Given the description of an element on the screen output the (x, y) to click on. 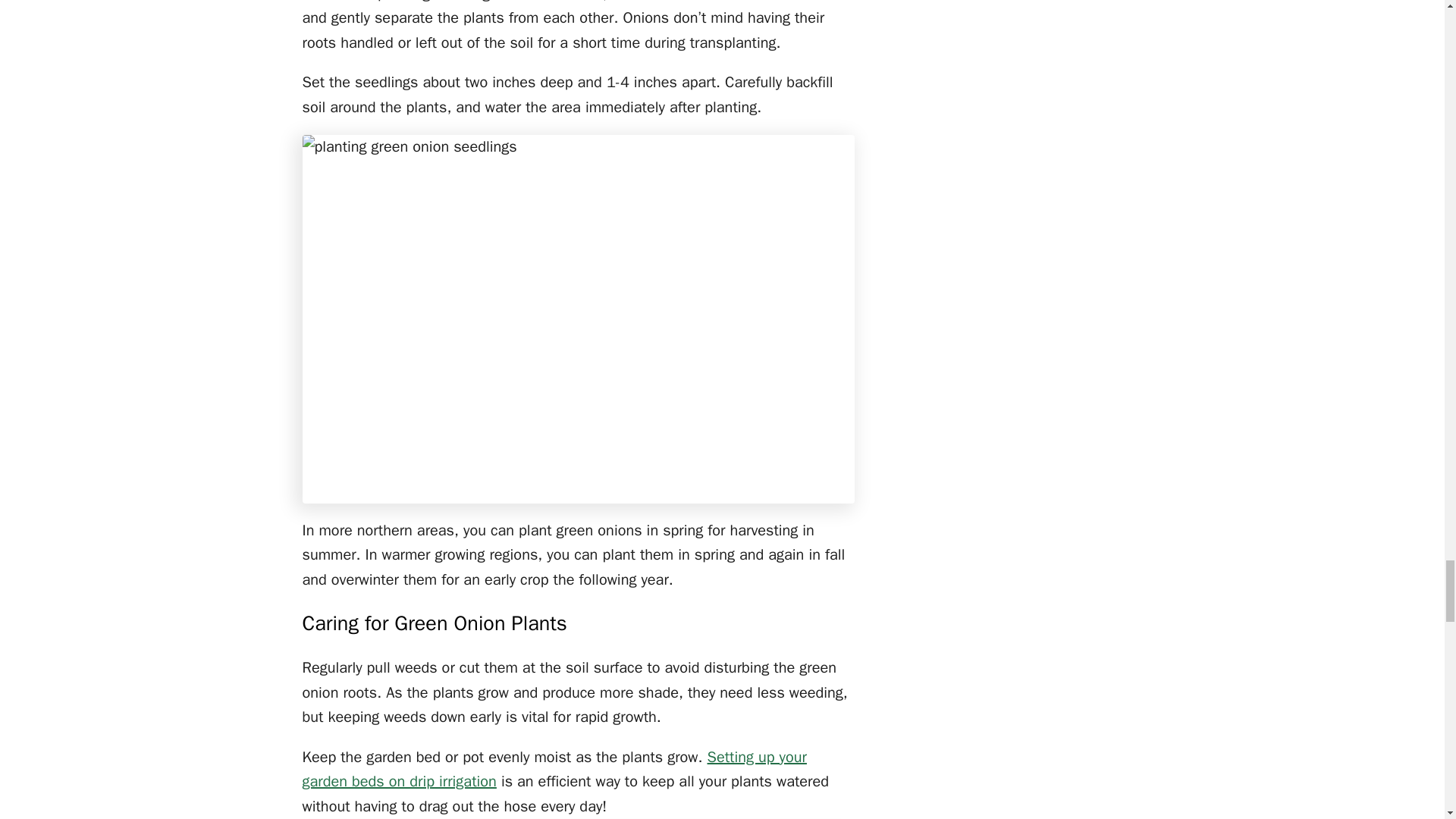
Setting up your garden beds on drip irrigation (553, 769)
